Given the description of an element on the screen output the (x, y) to click on. 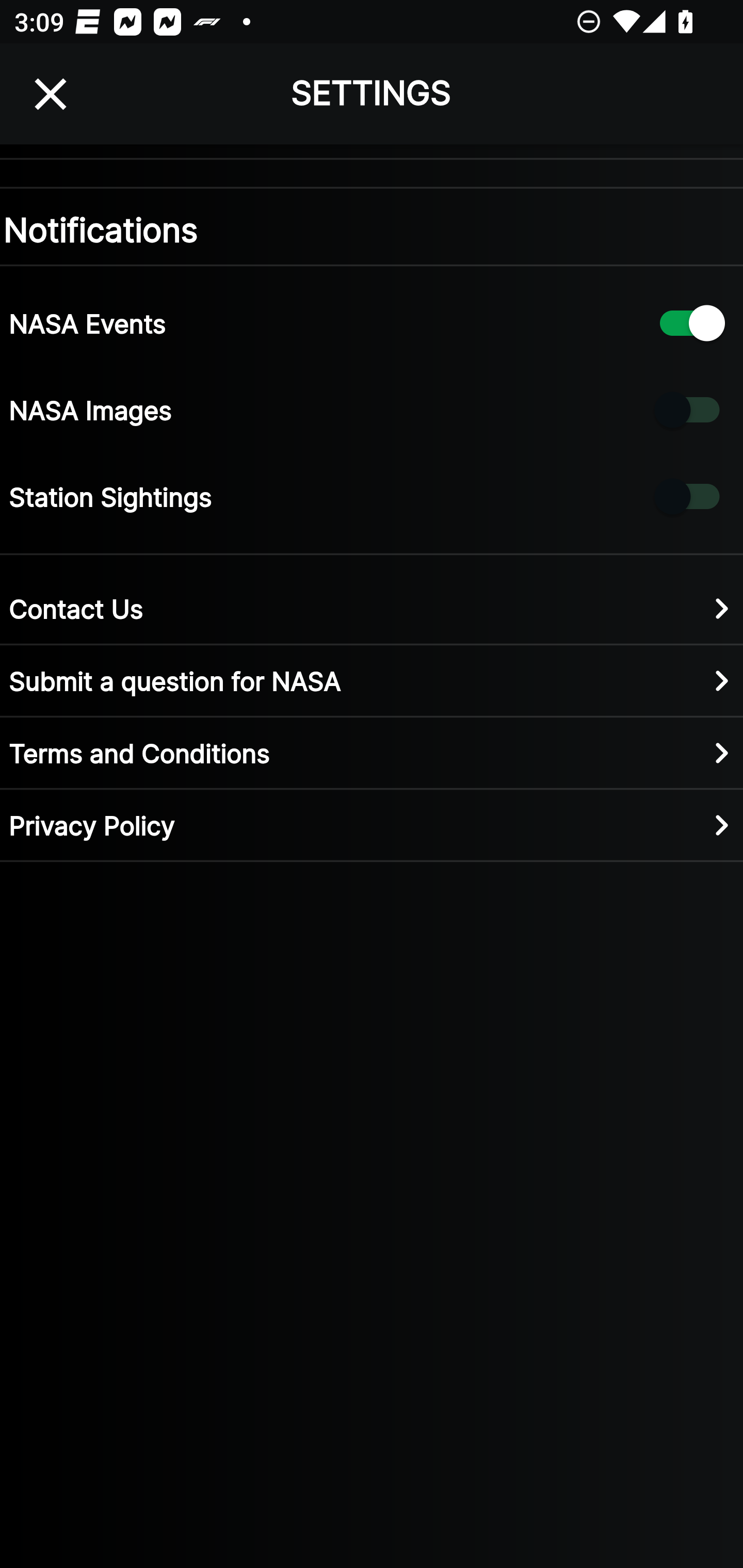
Contact Us (371, 608)
Submit a question for NASA (371, 680)
Terms and Conditions (371, 752)
Privacy Policy (371, 824)
